Given the description of an element on the screen output the (x, y) to click on. 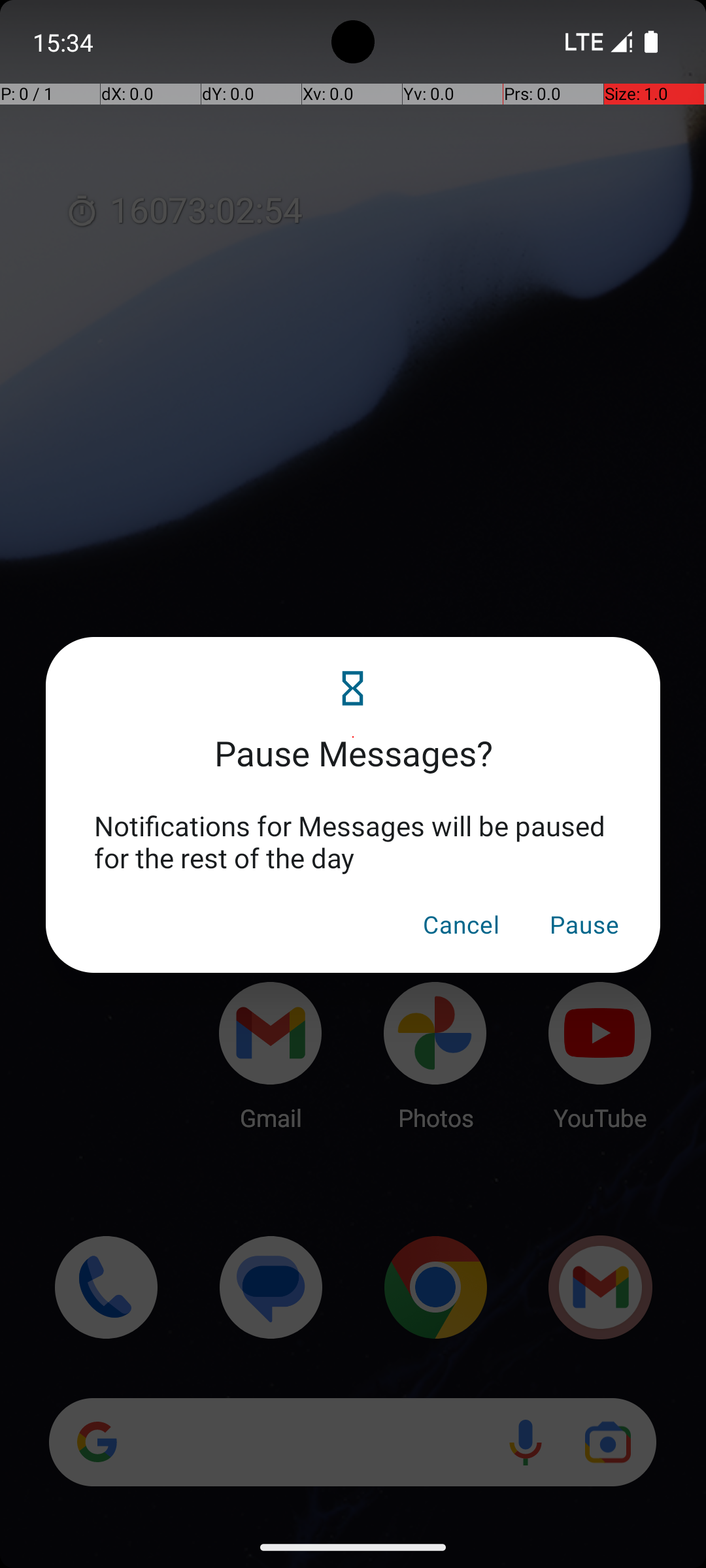
Pause Messages? Element type: android.widget.TextView (352, 736)
Notifications for Messages will be paused for the rest of the day Element type: android.widget.TextView (352, 841)
